Given the description of an element on the screen output the (x, y) to click on. 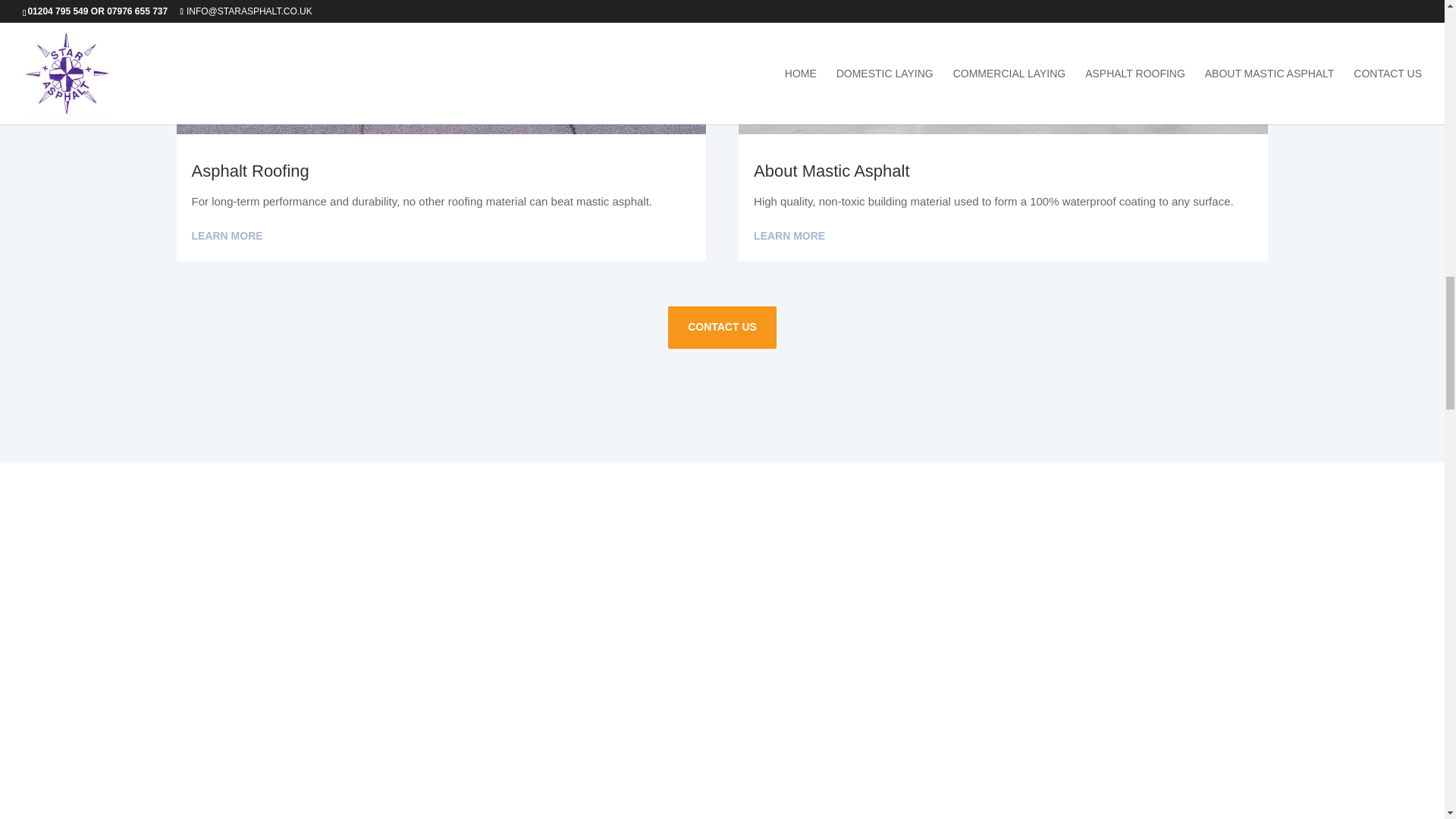
LEARN MORE (226, 236)
LEARN MORE (789, 236)
CONTACT US (722, 327)
